Given the description of an element on the screen output the (x, y) to click on. 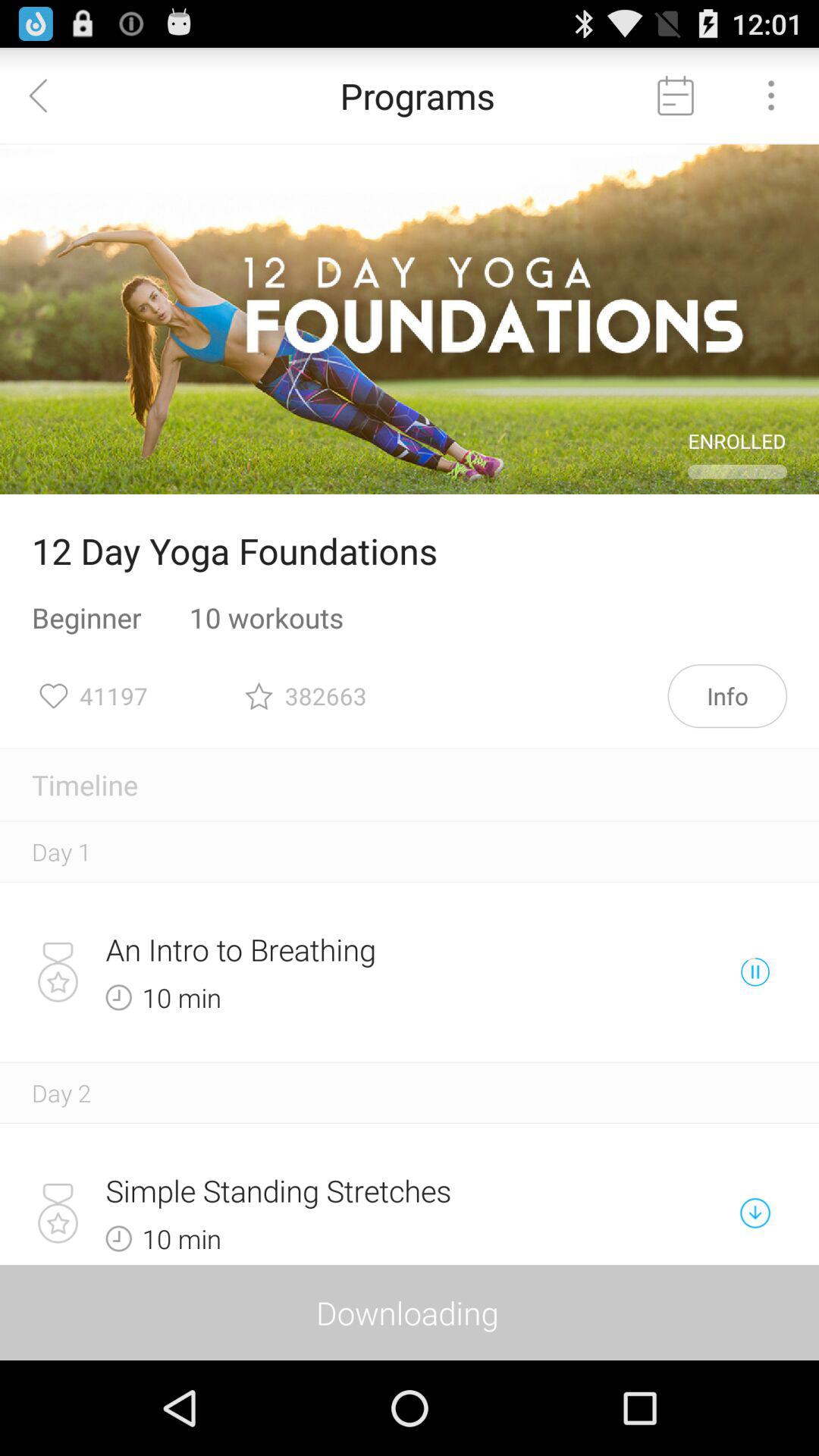
go back (47, 95)
